Given the description of an element on the screen output the (x, y) to click on. 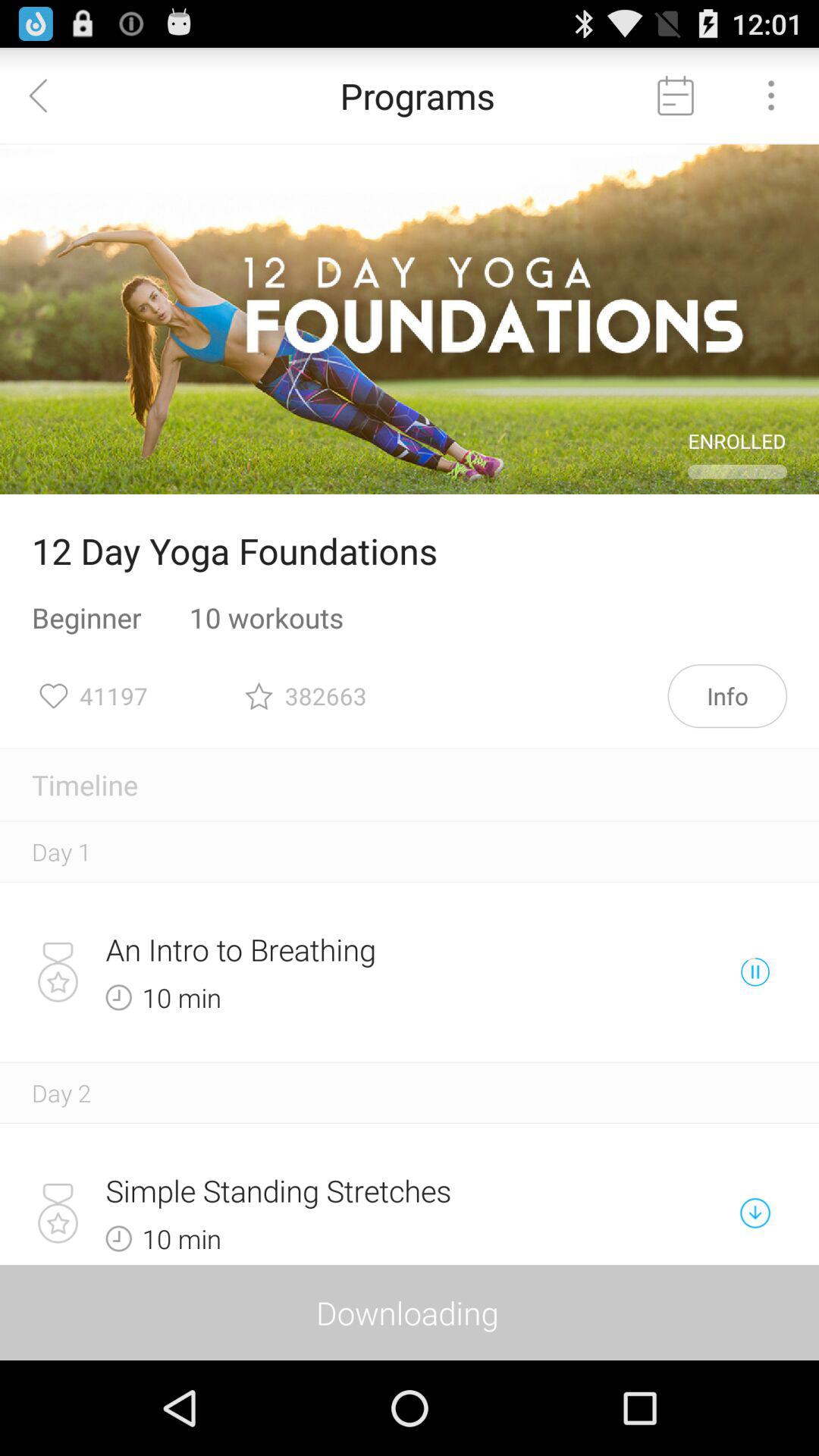
go back (47, 95)
